Given the description of an element on the screen output the (x, y) to click on. 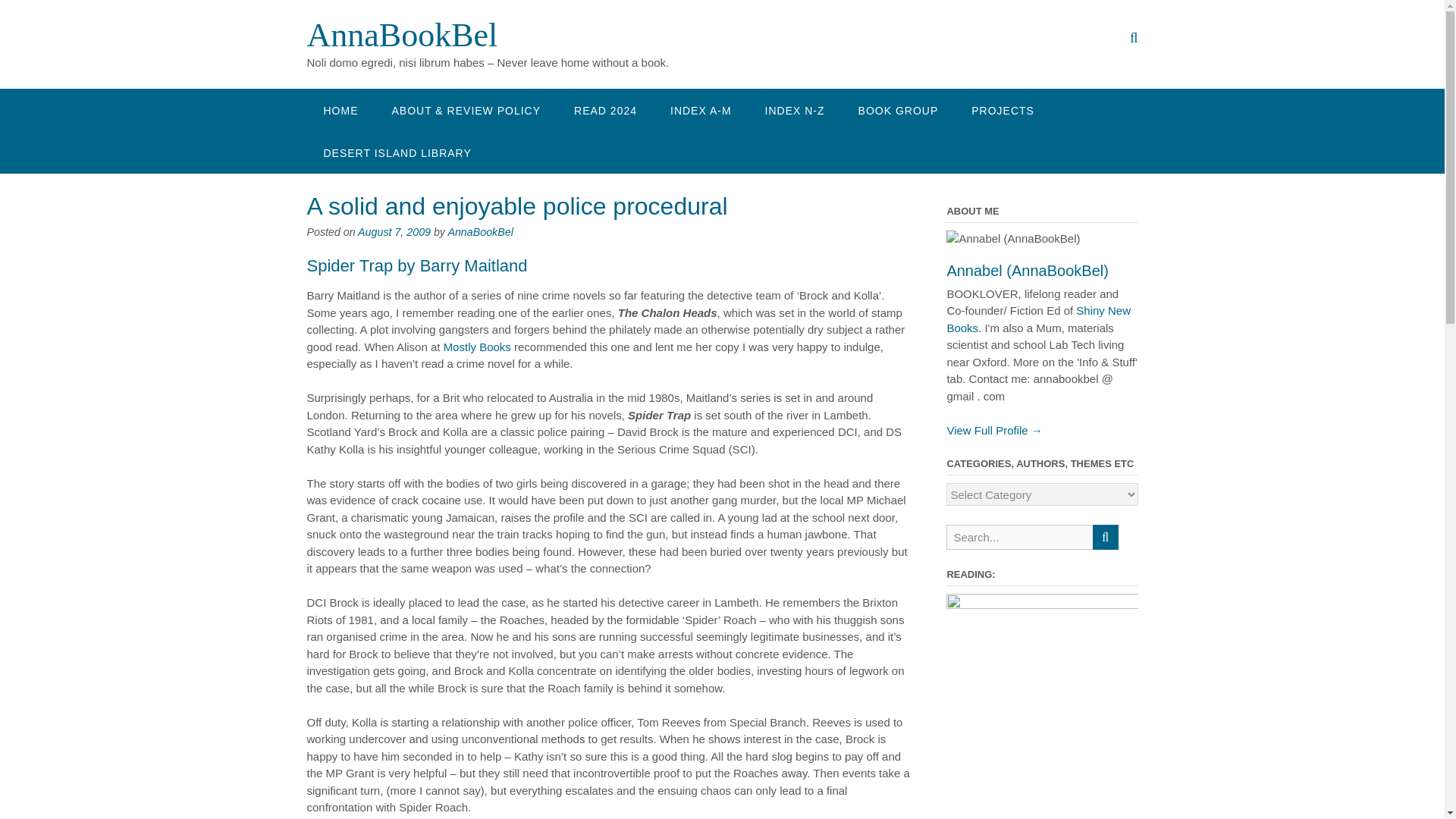
Search for: (1019, 536)
READ 2024 (605, 109)
AnnaBookBel (401, 35)
DESERT ISLAND LIBRARY (396, 152)
INDEX N-Z (794, 109)
HOME (339, 109)
August 7, 2009 (394, 232)
AnnaBookBel (401, 35)
BOOK GROUP (898, 109)
Mostly Books (477, 346)
